Given the description of an element on the screen output the (x, y) to click on. 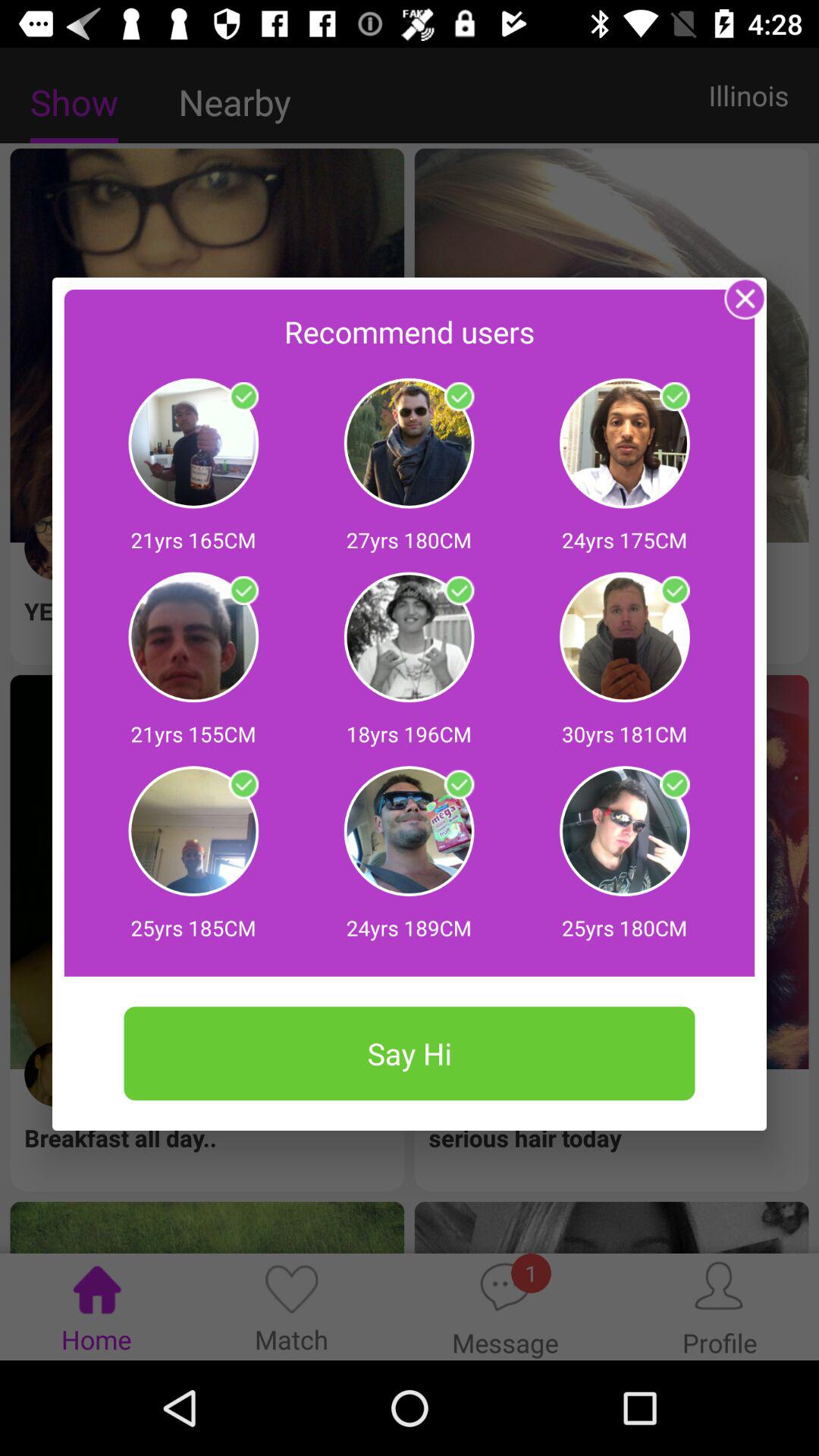
select button (459, 590)
